Given the description of an element on the screen output the (x, y) to click on. 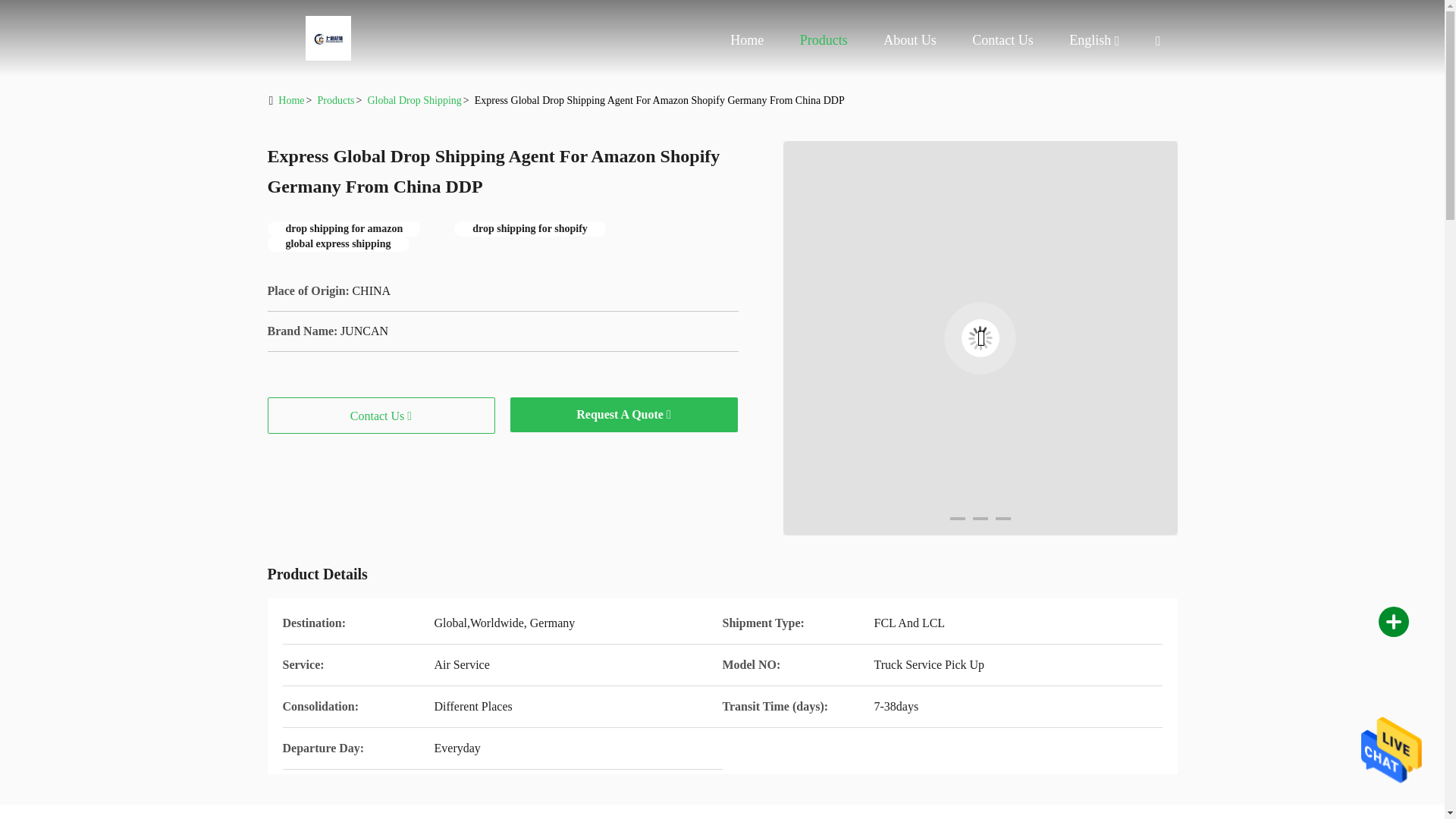
Contact Us (1002, 40)
About Us (909, 40)
About Us (909, 40)
Home (327, 37)
Products (823, 40)
Products (823, 40)
